Given the description of an element on the screen output the (x, y) to click on. 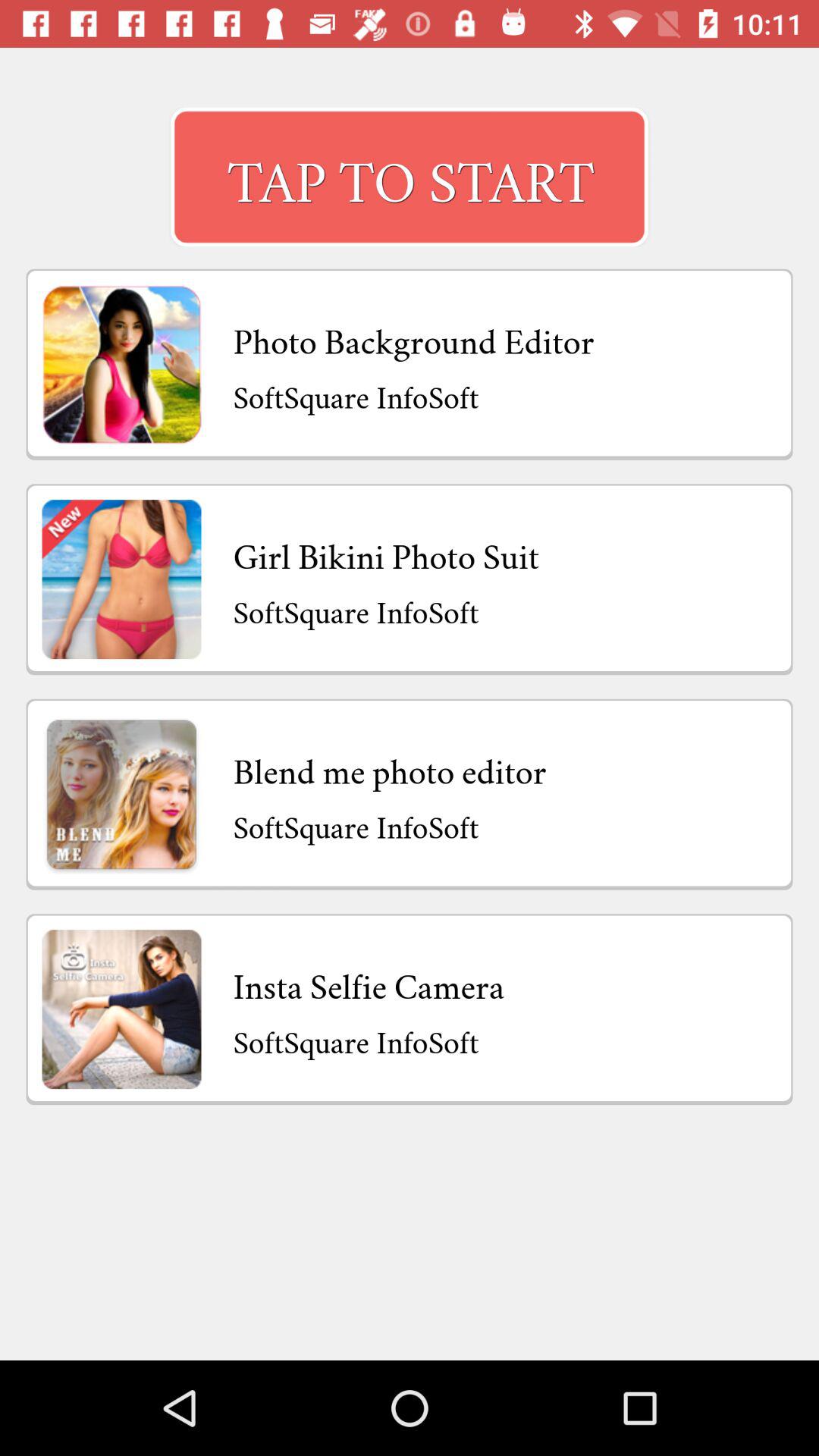
choose the item below softsquare infosoft icon (386, 552)
